Given the description of an element on the screen output the (x, y) to click on. 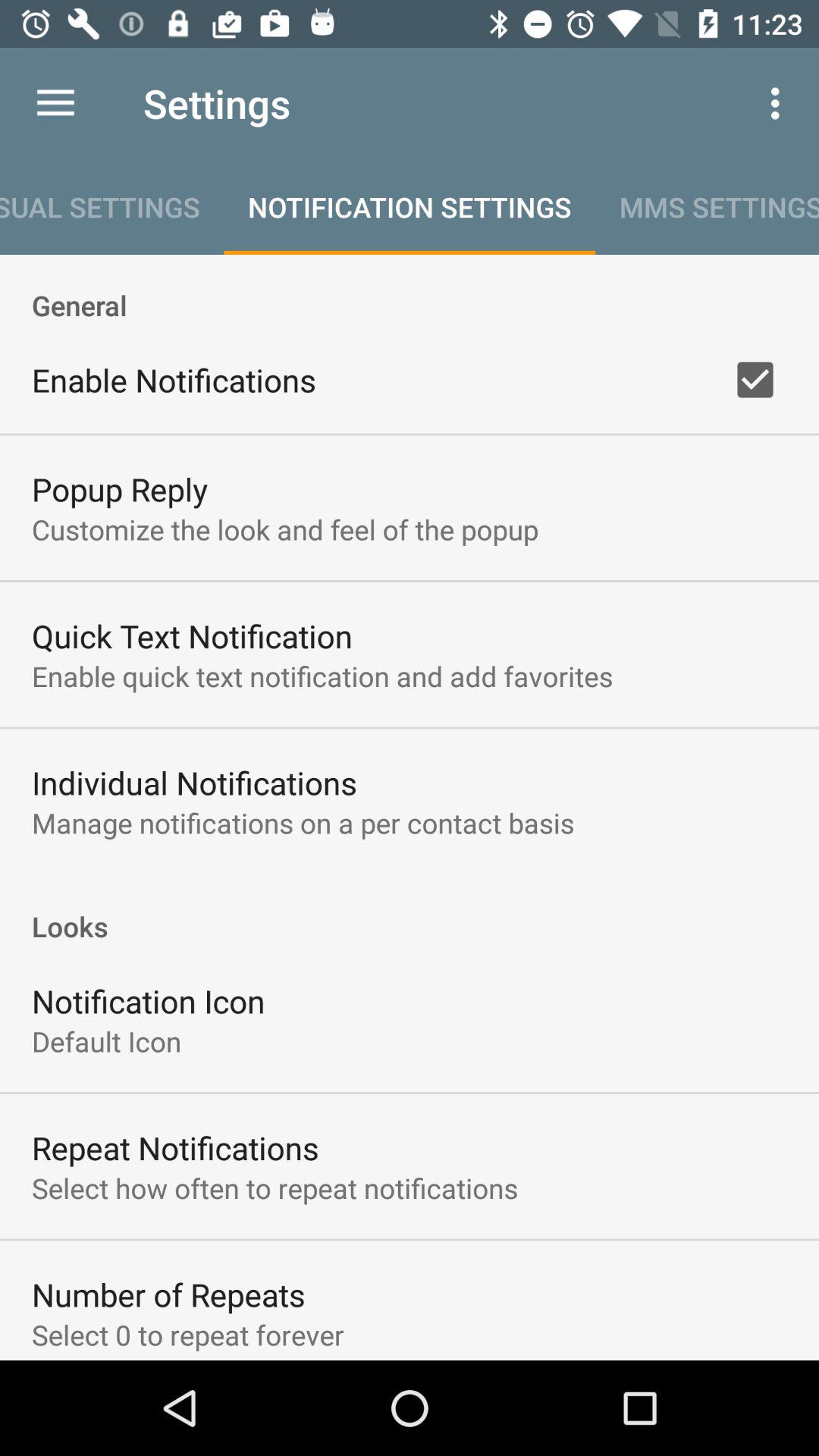
turn off the icon above the default icon (148, 1000)
